Given the description of an element on the screen output the (x, y) to click on. 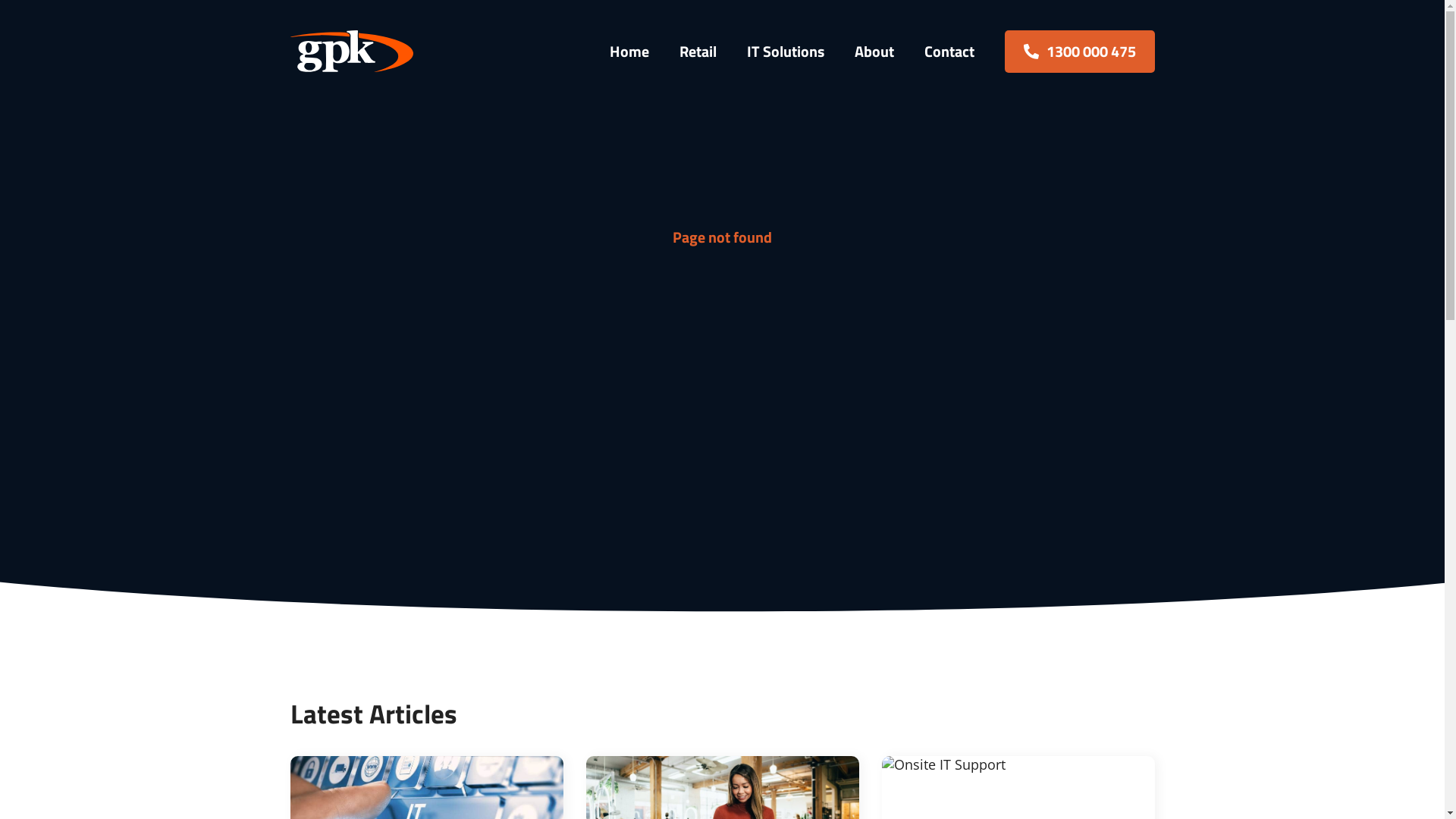
Home Element type: text (629, 50)
1300 000 475 Element type: text (1079, 51)
About Element type: text (873, 50)
IT Solutions Element type: text (784, 50)
Retail Element type: text (697, 50)
Contact Element type: text (948, 50)
